Given the description of an element on the screen output the (x, y) to click on. 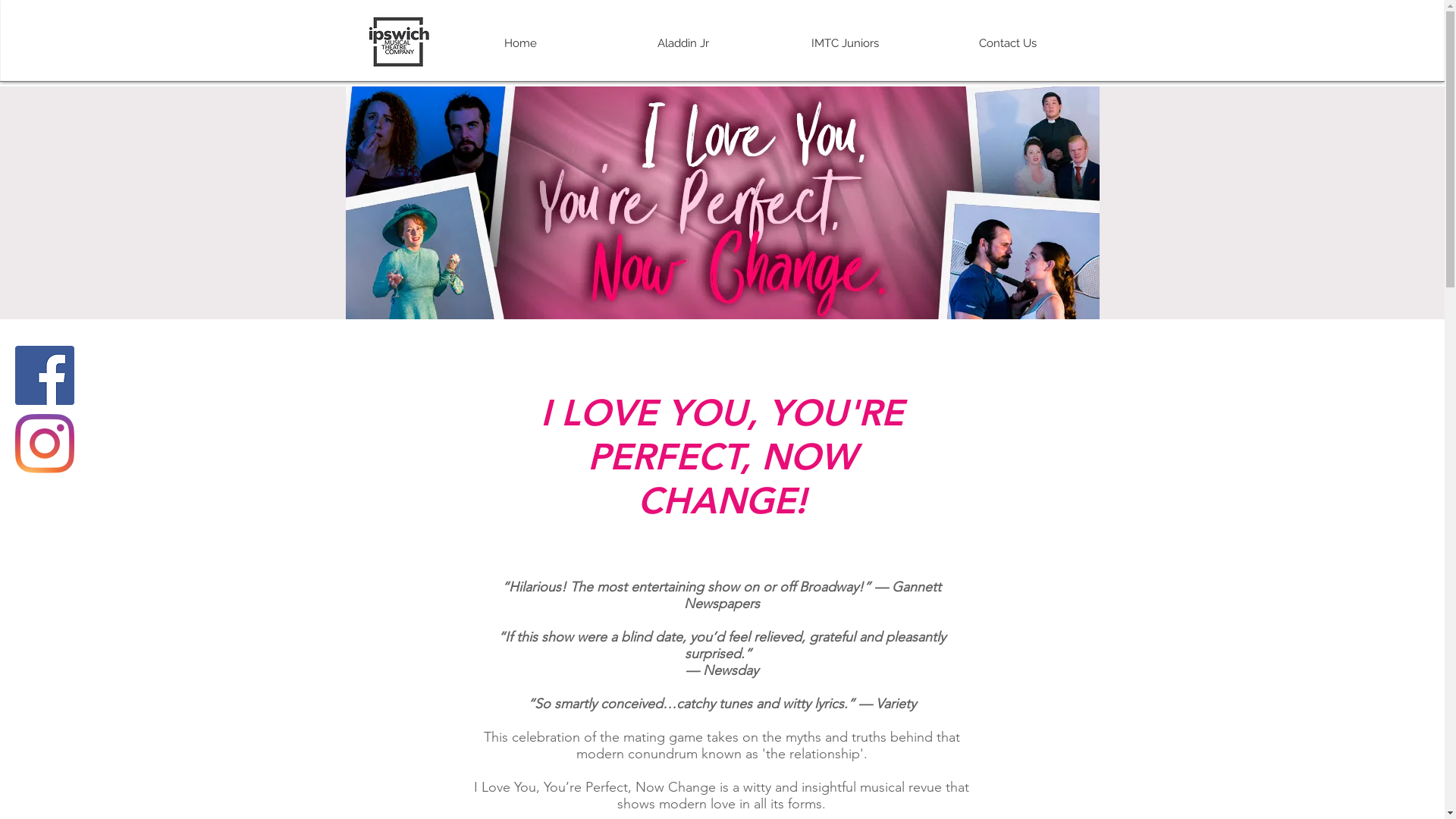
Home Element type: text (519, 42)
Ipswich Musical Theatre Company Element type: hover (398, 41)
Aladdin Jr Element type: text (683, 42)
Embedded Content Element type: hover (444, 158)
Contact Us Element type: text (1007, 42)
IMTC Juniors Element type: text (845, 42)
